Given the description of an element on the screen output the (x, y) to click on. 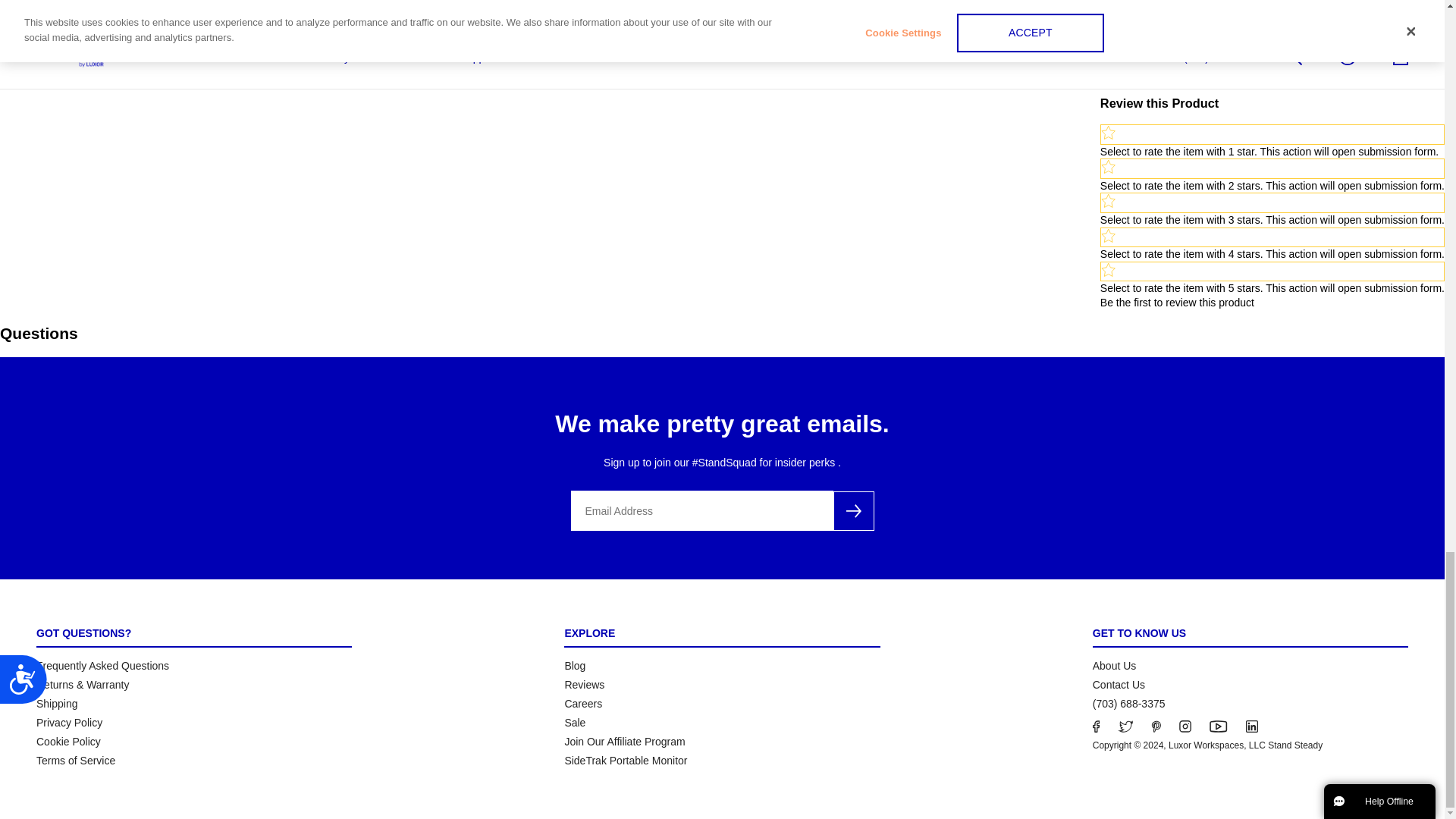
Stand Steady on Twitter (1125, 725)
Stand Steady on YouTube (1218, 725)
Stand Steady on Instagram (1185, 725)
Stand Steady on LinkedIn (1251, 725)
